Given the description of an element on the screen output the (x, y) to click on. 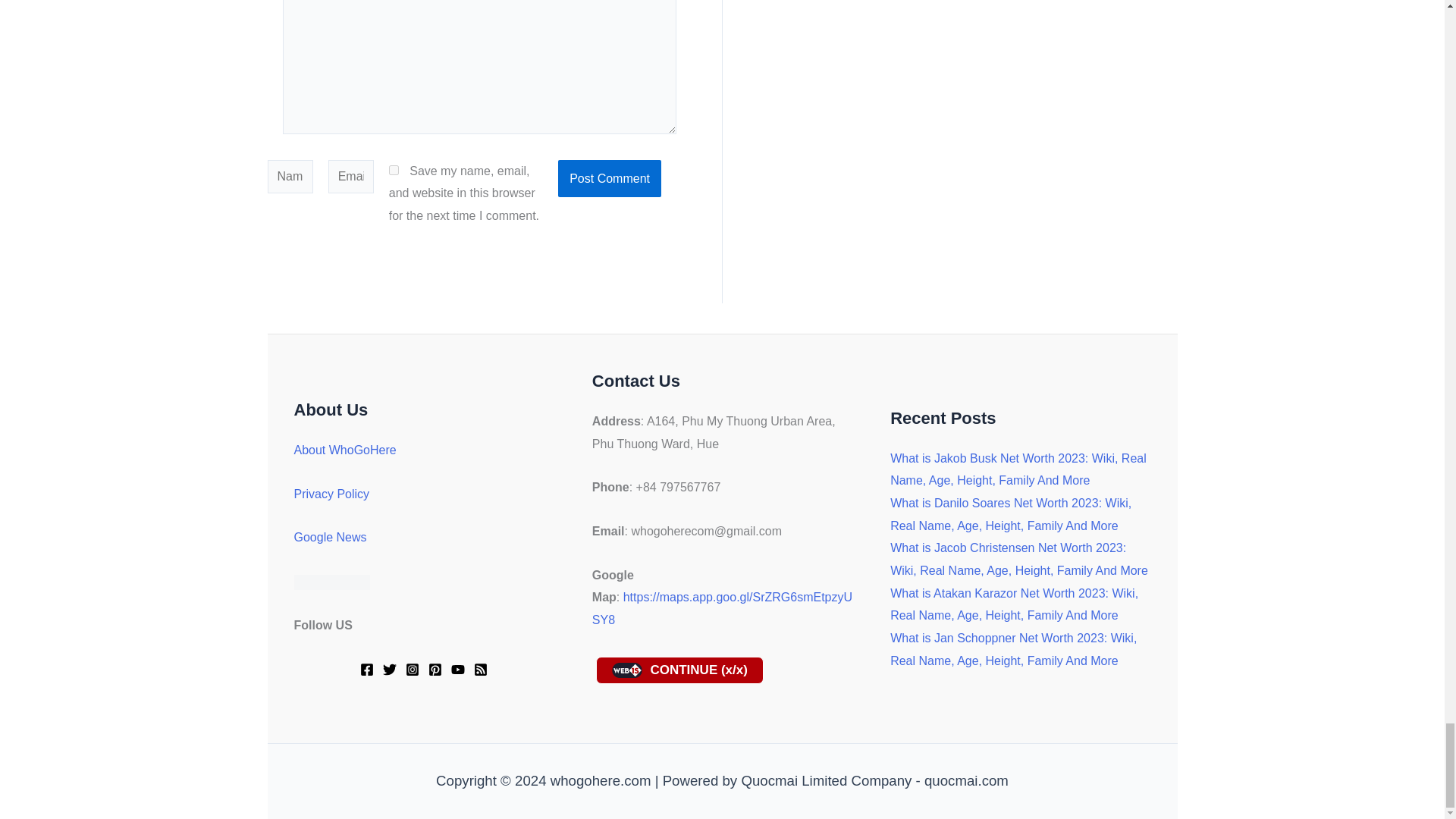
yes (393, 170)
Post Comment (609, 178)
Google Map (721, 608)
DMCA.com Protection Status (331, 581)
